Given the description of an element on the screen output the (x, y) to click on. 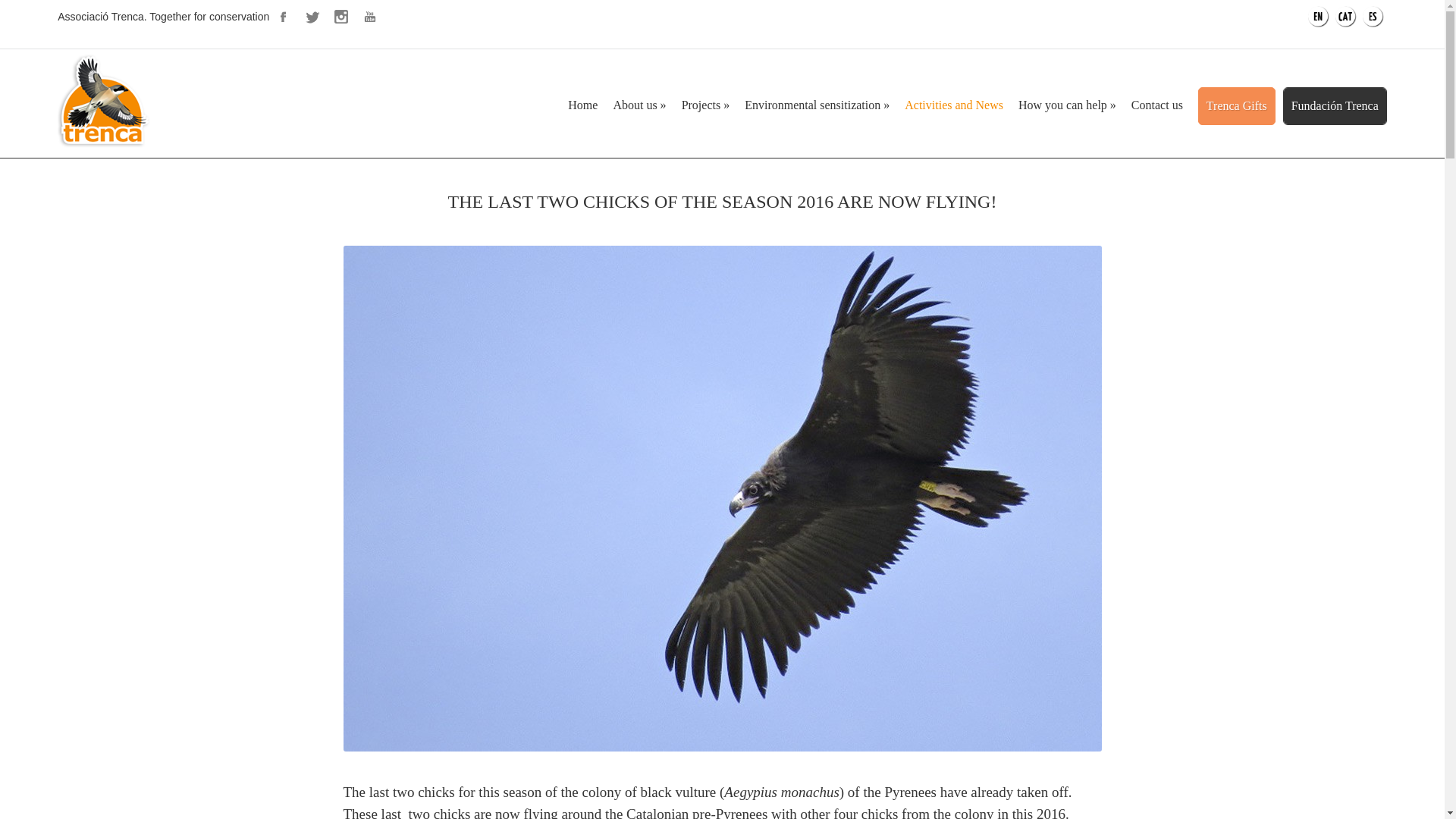
Trenca Gifts (1236, 105)
Contact us (1156, 104)
TRENCA (104, 144)
Activities and News (953, 104)
English (1318, 16)
